Given the description of an element on the screen output the (x, y) to click on. 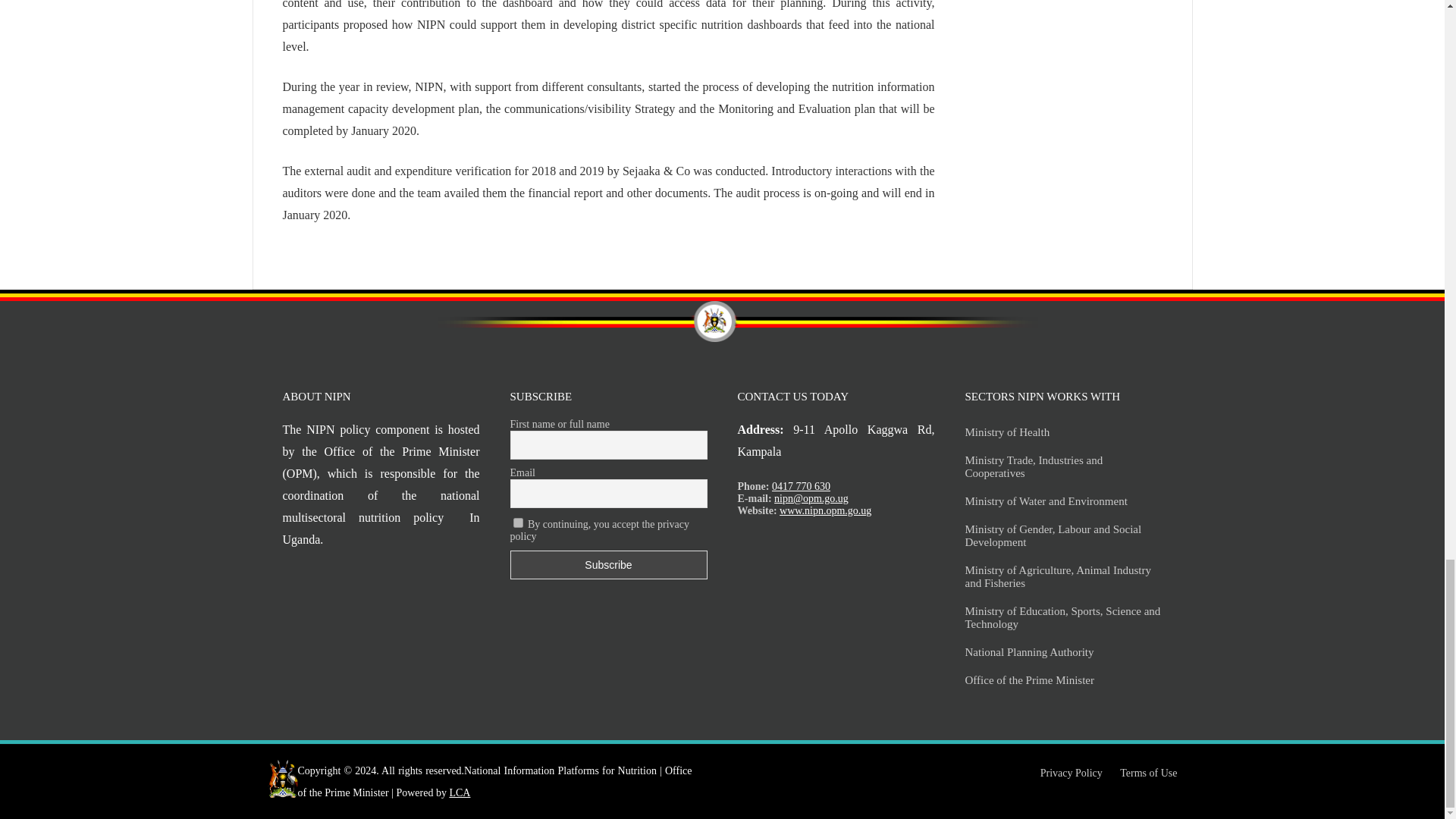
on (517, 522)
Subscribe (607, 564)
www.nipn.opm.go.ug (824, 510)
0417 770 630 (800, 486)
Subscribe (607, 564)
WPlook (459, 792)
